Given the description of an element on the screen output the (x, y) to click on. 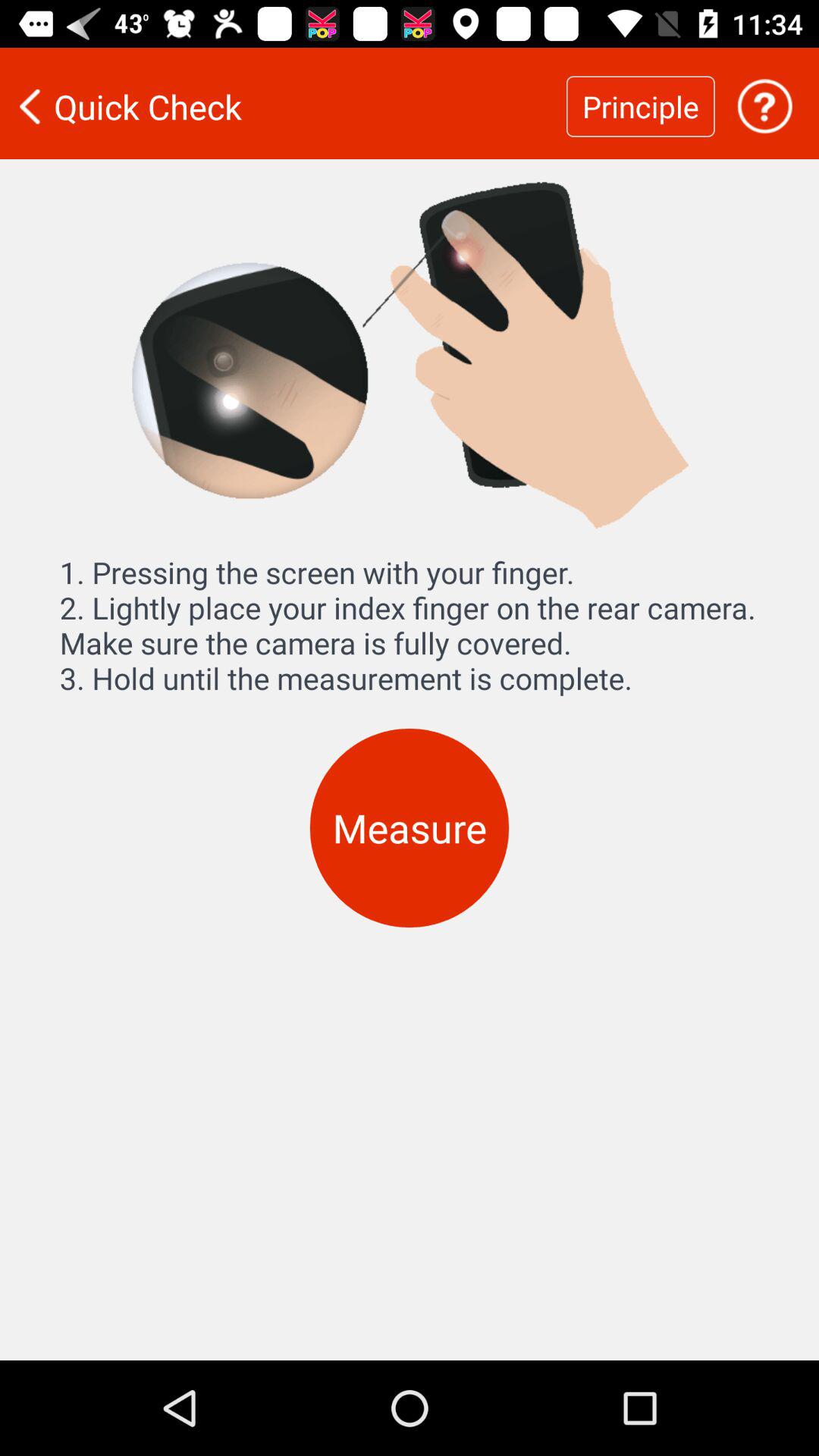
get help (764, 106)
